Given the description of an element on the screen output the (x, y) to click on. 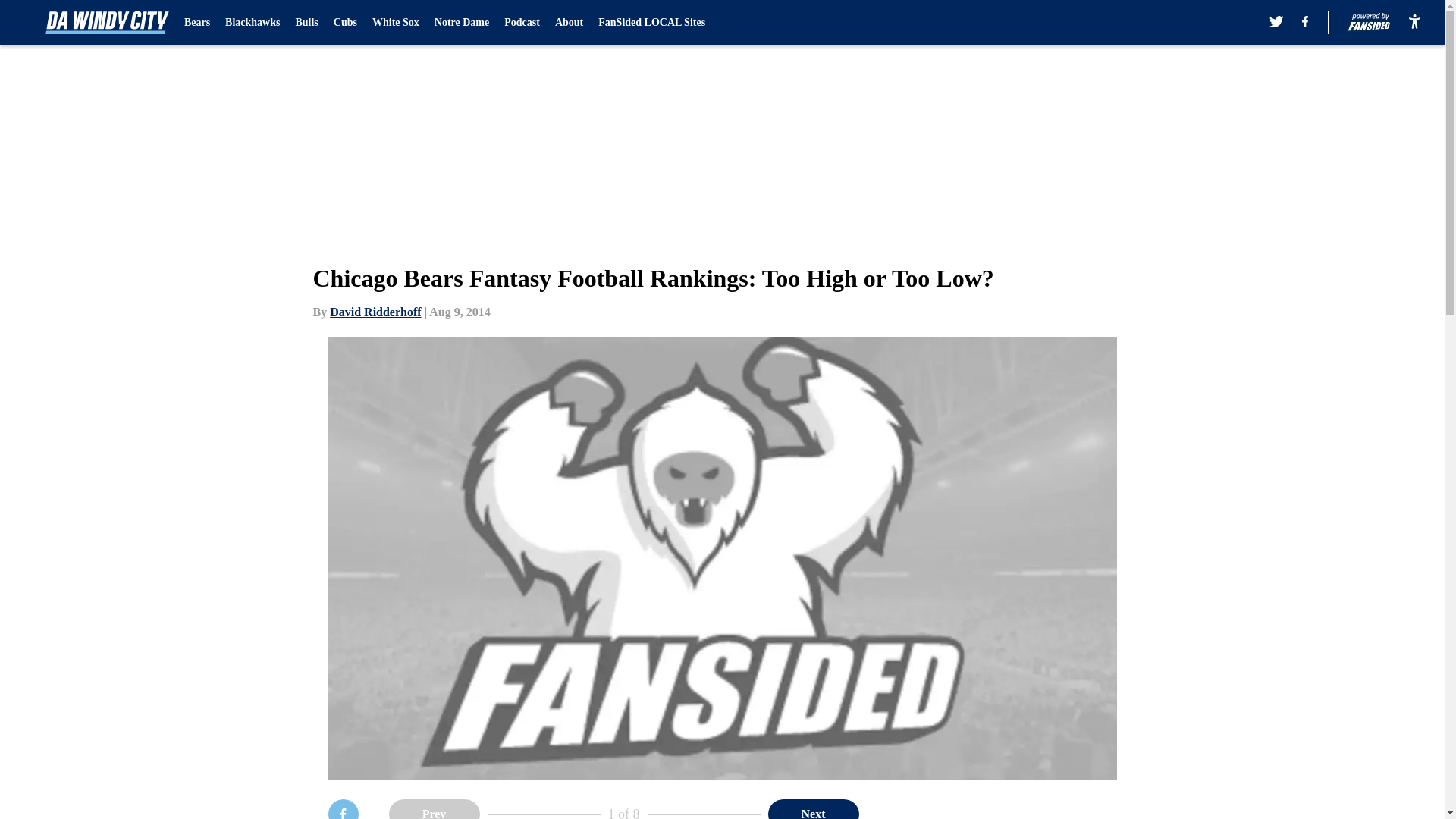
Bears (196, 22)
Cubs (344, 22)
Next (813, 809)
Prev (433, 809)
Notre Dame (461, 22)
About (568, 22)
White Sox (395, 22)
Bulls (306, 22)
FanSided LOCAL Sites (651, 22)
David Ridderhoff (375, 311)
